Given the description of an element on the screen output the (x, y) to click on. 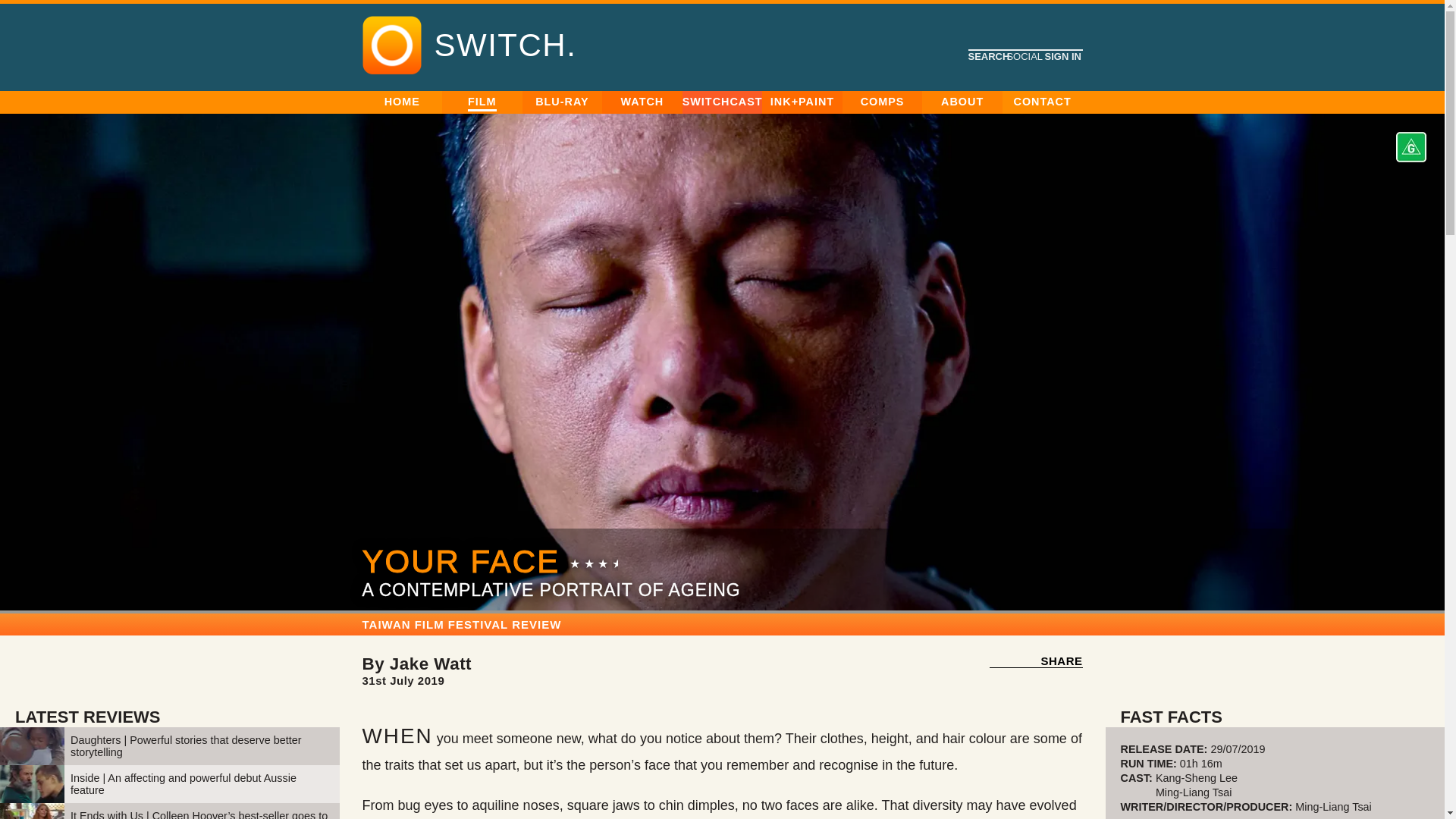
COMPS (882, 101)
SIGN IN (1062, 56)
SWITCHCAST (722, 101)
CONTACT (1041, 101)
HOME (402, 101)
WATCH (642, 101)
FILM (481, 102)
BLU-RAY (561, 101)
SIGN IN (771, 199)
ABOUT (962, 101)
